Given the description of an element on the screen output the (x, y) to click on. 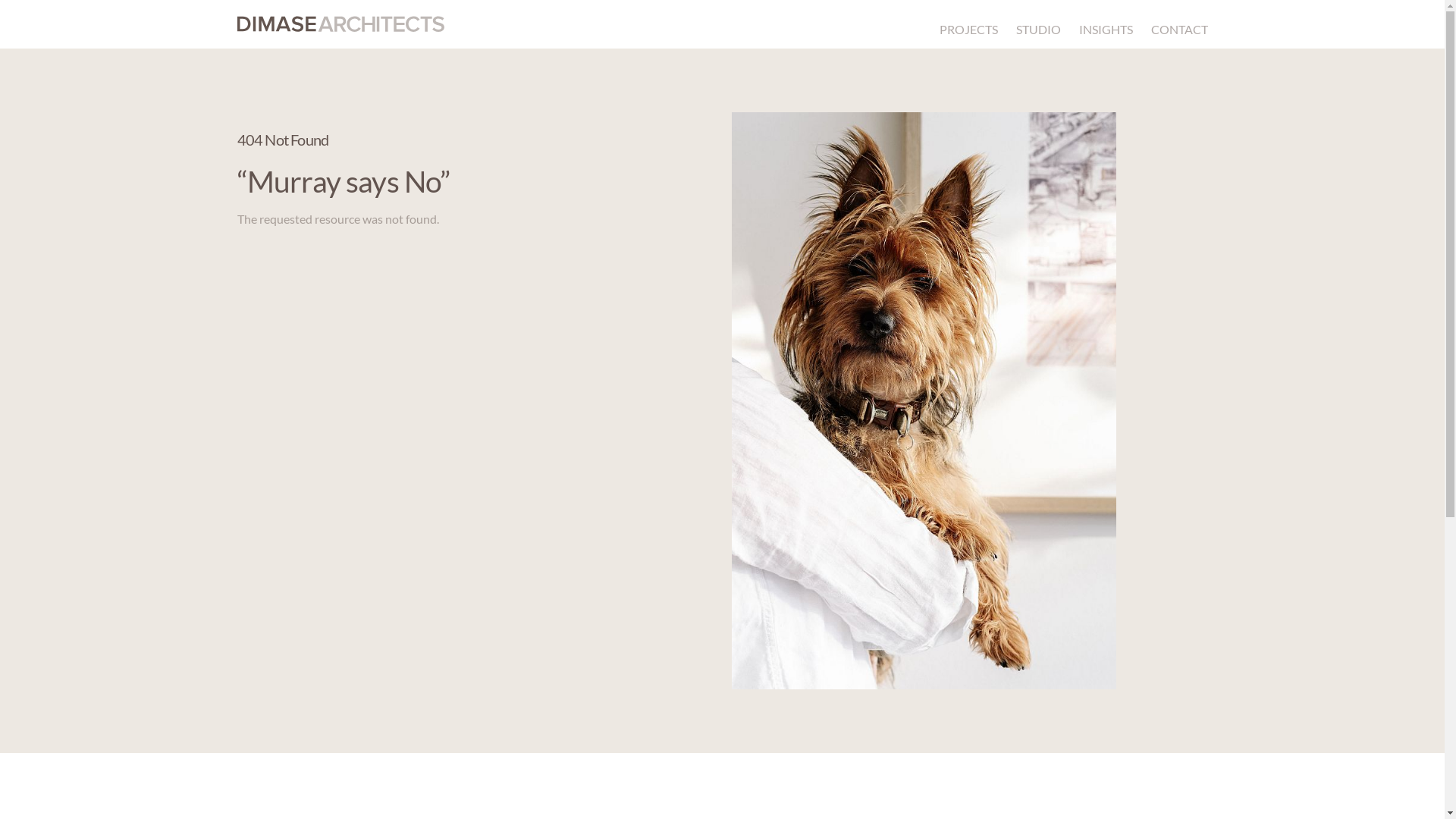
CONTACT Element type: text (1179, 28)
STUDIO Element type: text (1038, 28)
INSIGHTS Element type: text (1105, 28)
PROJECTS Element type: text (967, 28)
